Given the description of an element on the screen output the (x, y) to click on. 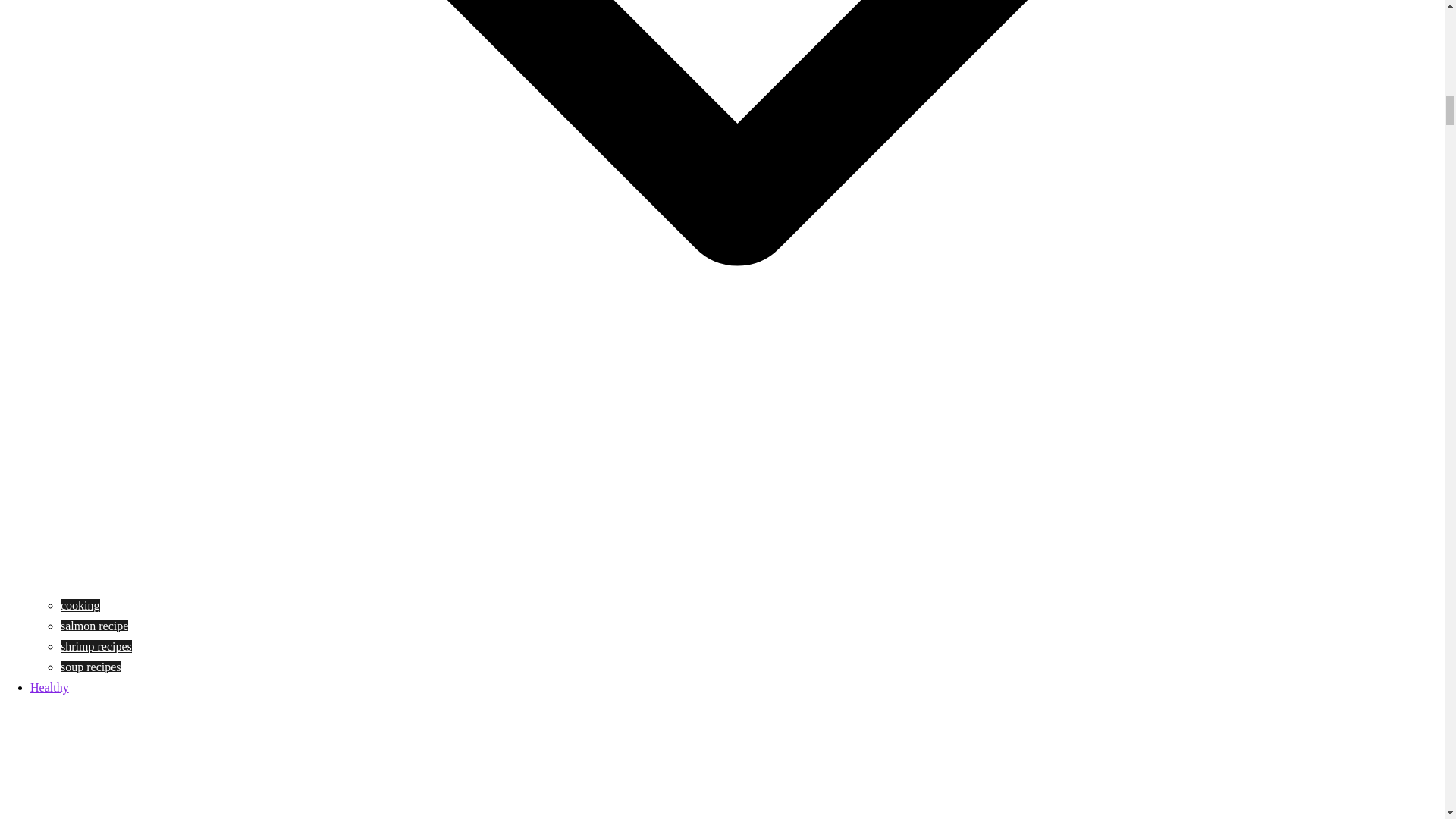
shrimp recipes (96, 645)
salmon recipe (94, 625)
Healthy (49, 686)
soup recipes (90, 666)
cooking (80, 604)
